Given the description of an element on the screen output the (x, y) to click on. 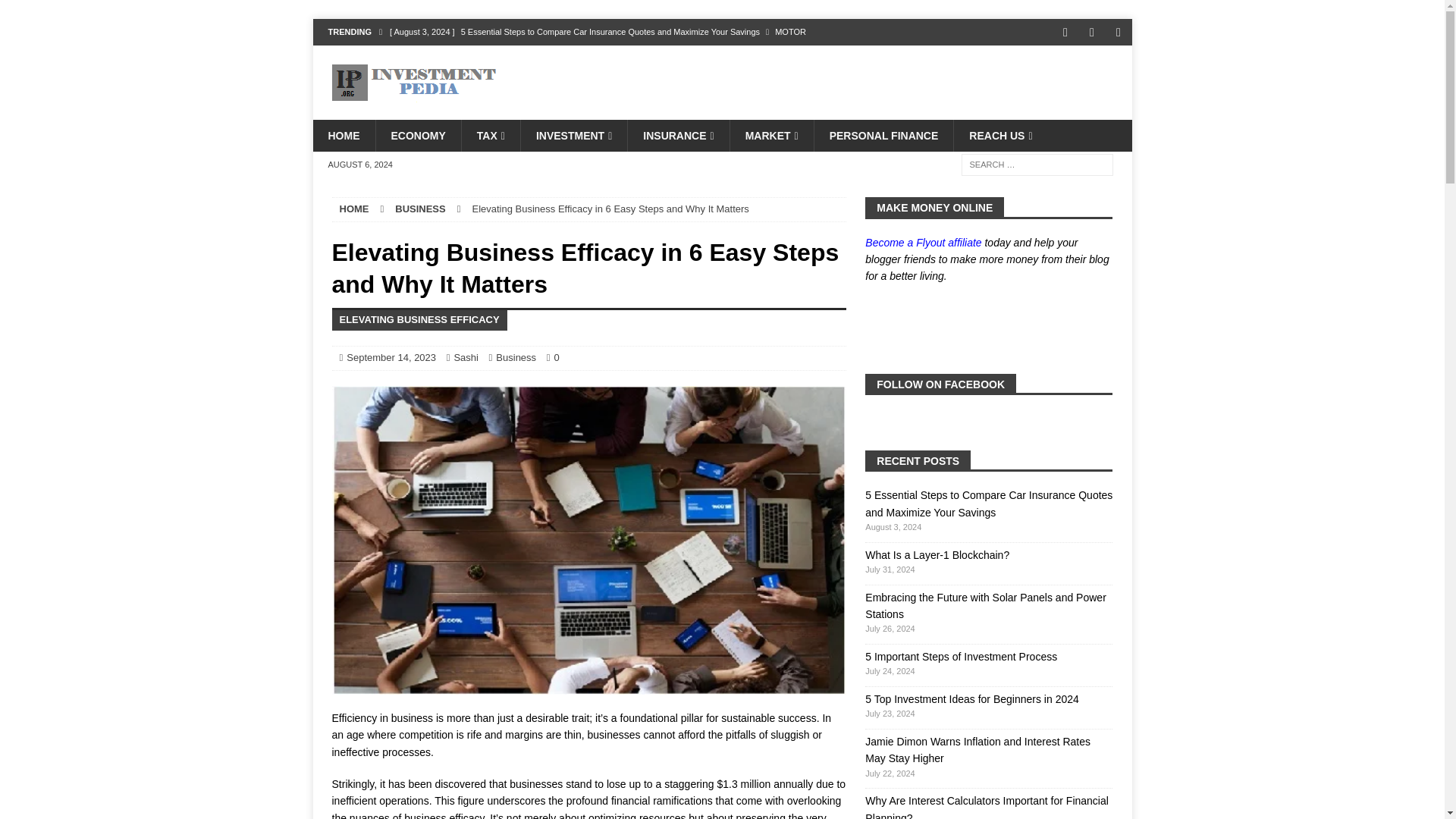
INVESTMENT (573, 135)
PERSONAL FINANCE (883, 135)
What Is a Layer-1 Blockchain? (620, 57)
Sashi (465, 357)
Business (515, 357)
HOME (343, 135)
ECONOMY (417, 135)
September 14, 2023 (390, 357)
MARKET (771, 135)
HOME (354, 208)
Search (56, 11)
BUSINESS (419, 208)
INSURANCE (678, 135)
